Given the description of an element on the screen output the (x, y) to click on. 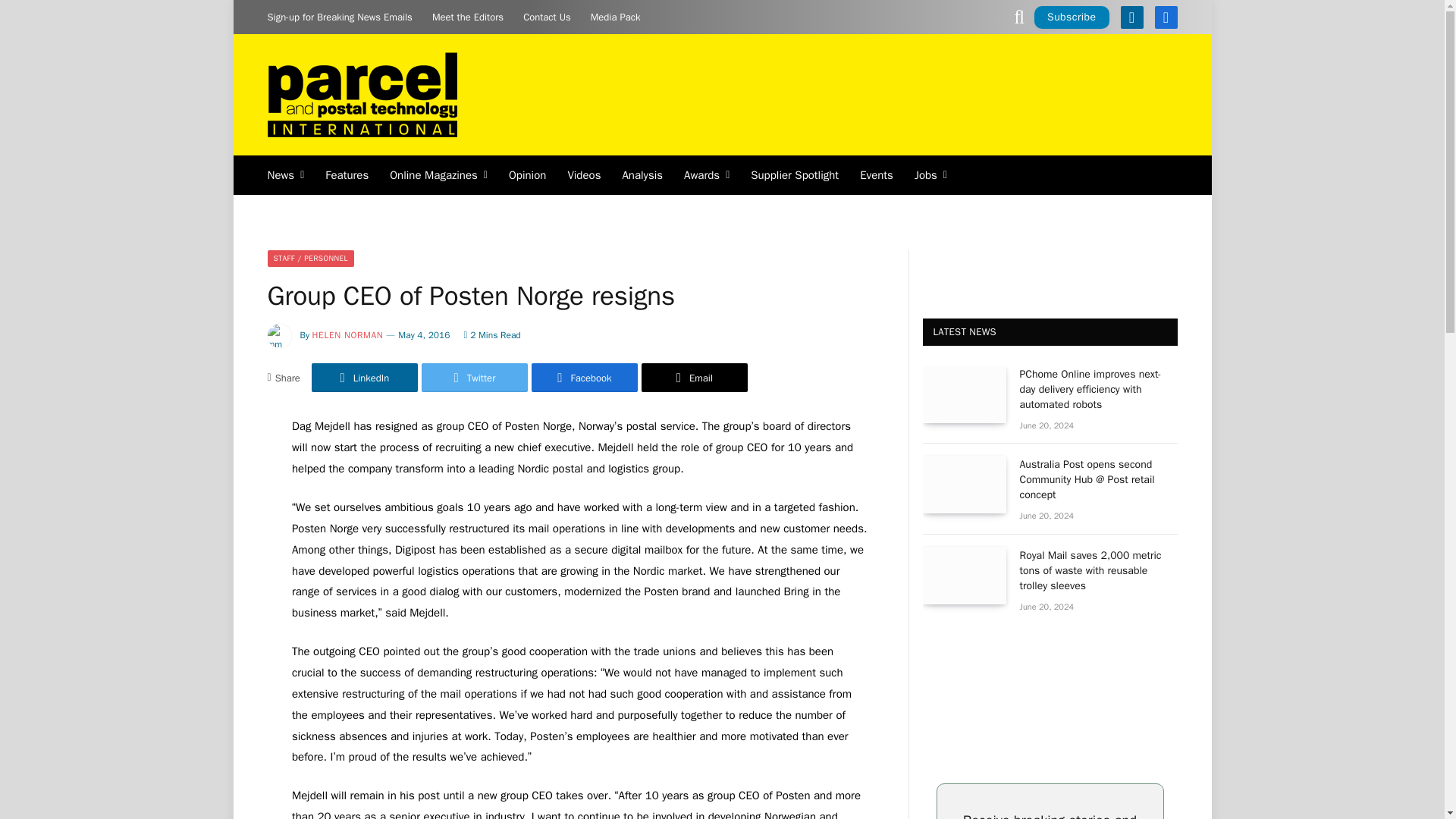
Share on LinkedIn (364, 377)
Share on Facebook (584, 377)
Posts by Helen Norman (348, 335)
Share on Twitter (474, 377)
Share via Email (695, 377)
Parcel and Postal Technology International (361, 94)
